Given the description of an element on the screen output the (x, y) to click on. 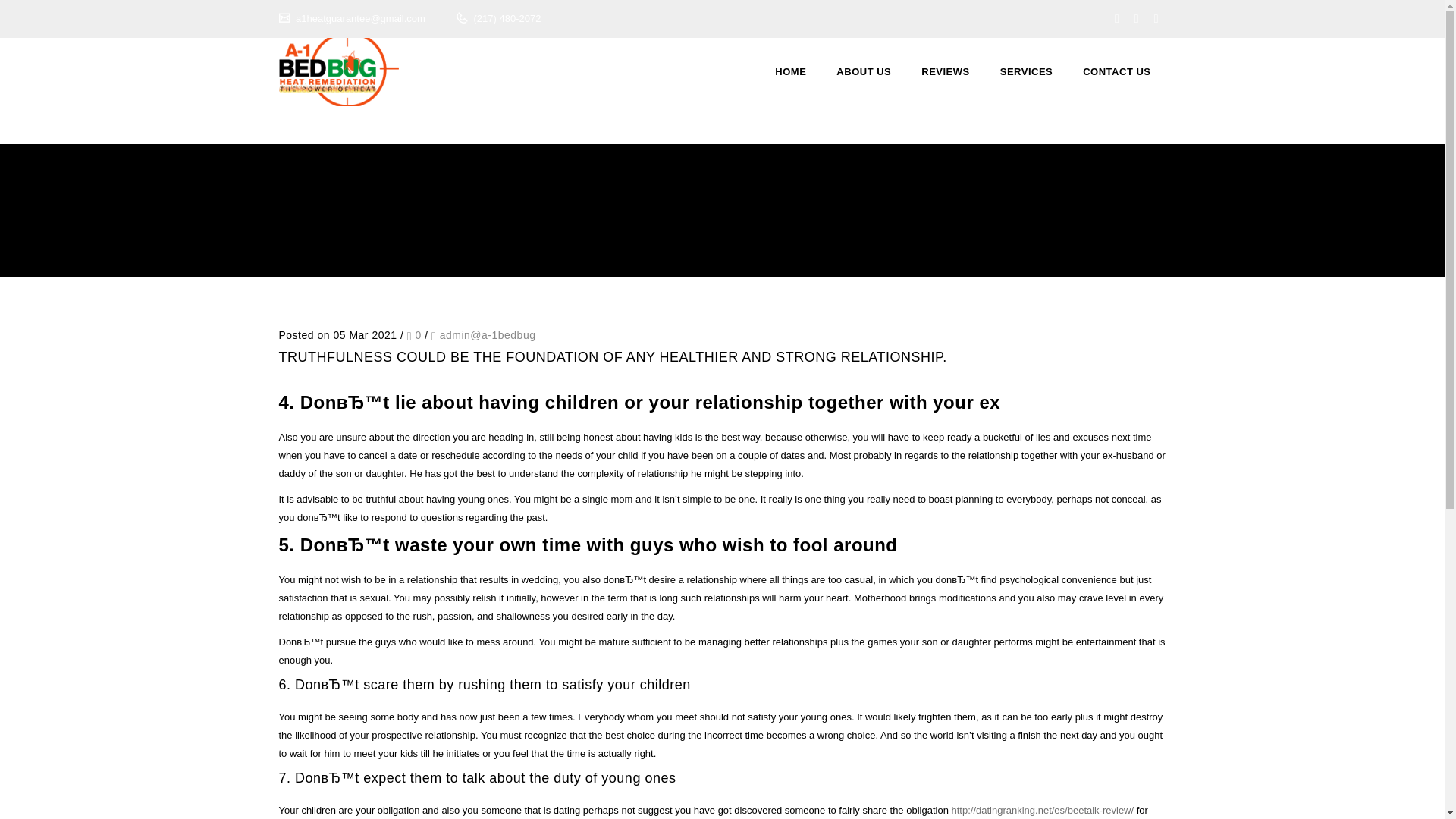
CONTACT US (1116, 71)
0 (414, 335)
BeeTalk visitors (351, 234)
ABOUT US (863, 71)
HOME (790, 71)
Home (292, 234)
SERVICES (1026, 71)
bed-bug-heat-remediation (338, 71)
bed-bug-heat-remediation (338, 71)
REVIEWS (944, 71)
